Given the description of an element on the screen output the (x, y) to click on. 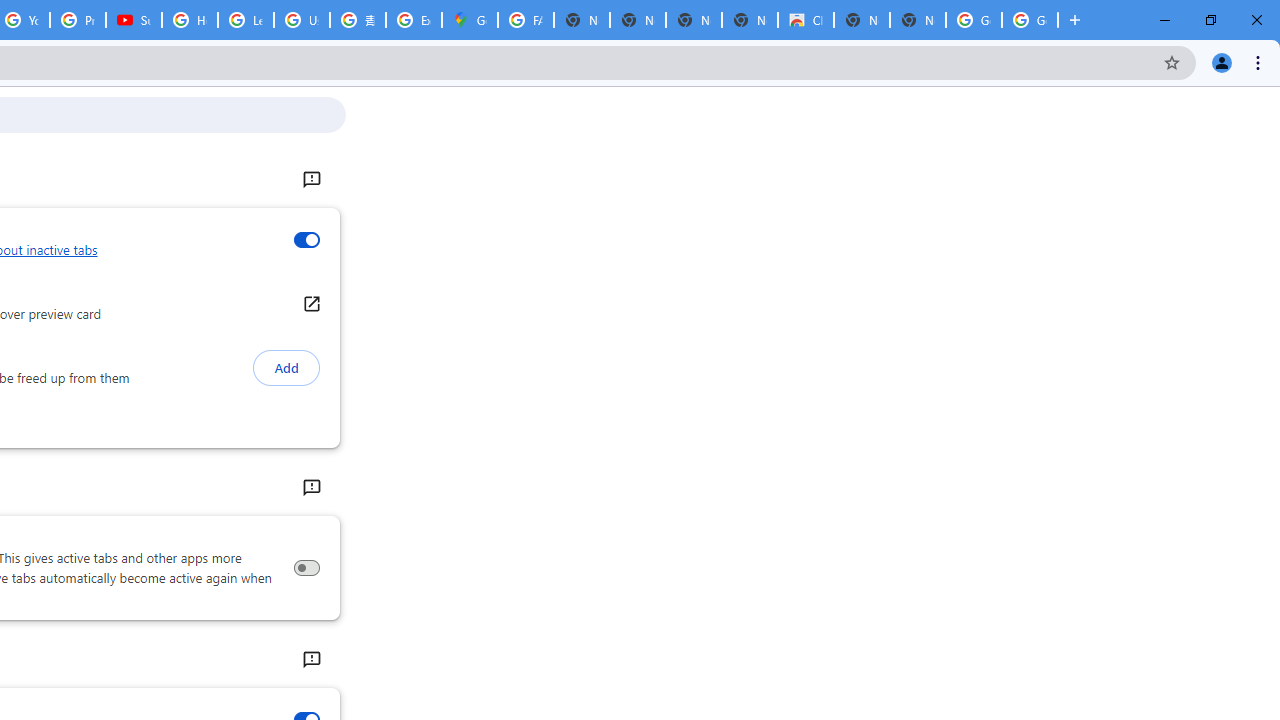
Memory (310, 488)
New Tab (917, 20)
Inactive tabs appearance (306, 240)
Google Images (973, 20)
Speed (310, 659)
Explore new street-level details - Google Maps Help (413, 20)
Add to the "always keep these sites active" list (286, 368)
Memory Saver (306, 568)
Google Maps (469, 20)
General (310, 179)
